Given the description of an element on the screen output the (x, y) to click on. 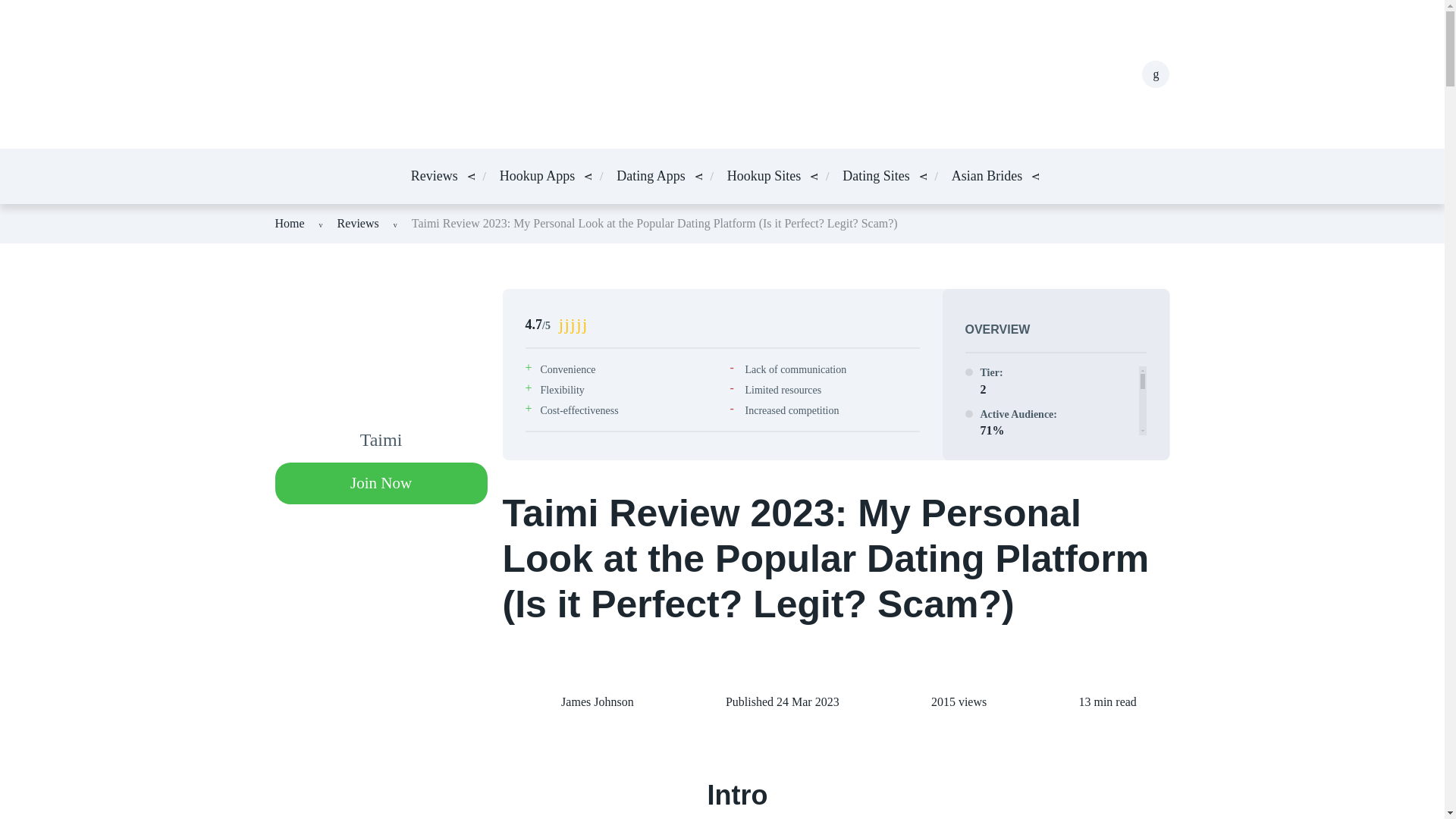
Dating Apps (650, 176)
Hookup Sites (764, 176)
Reviews (434, 176)
Home (289, 223)
Reviews (357, 223)
Hookup Apps (537, 176)
